Given the description of an element on the screen output the (x, y) to click on. 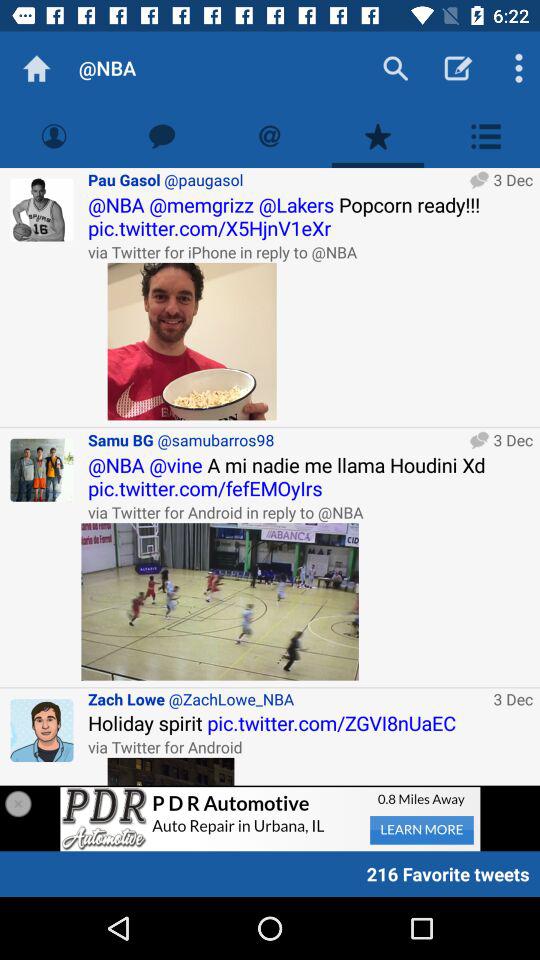
messages section (162, 136)
